Given the description of an element on the screen output the (x, y) to click on. 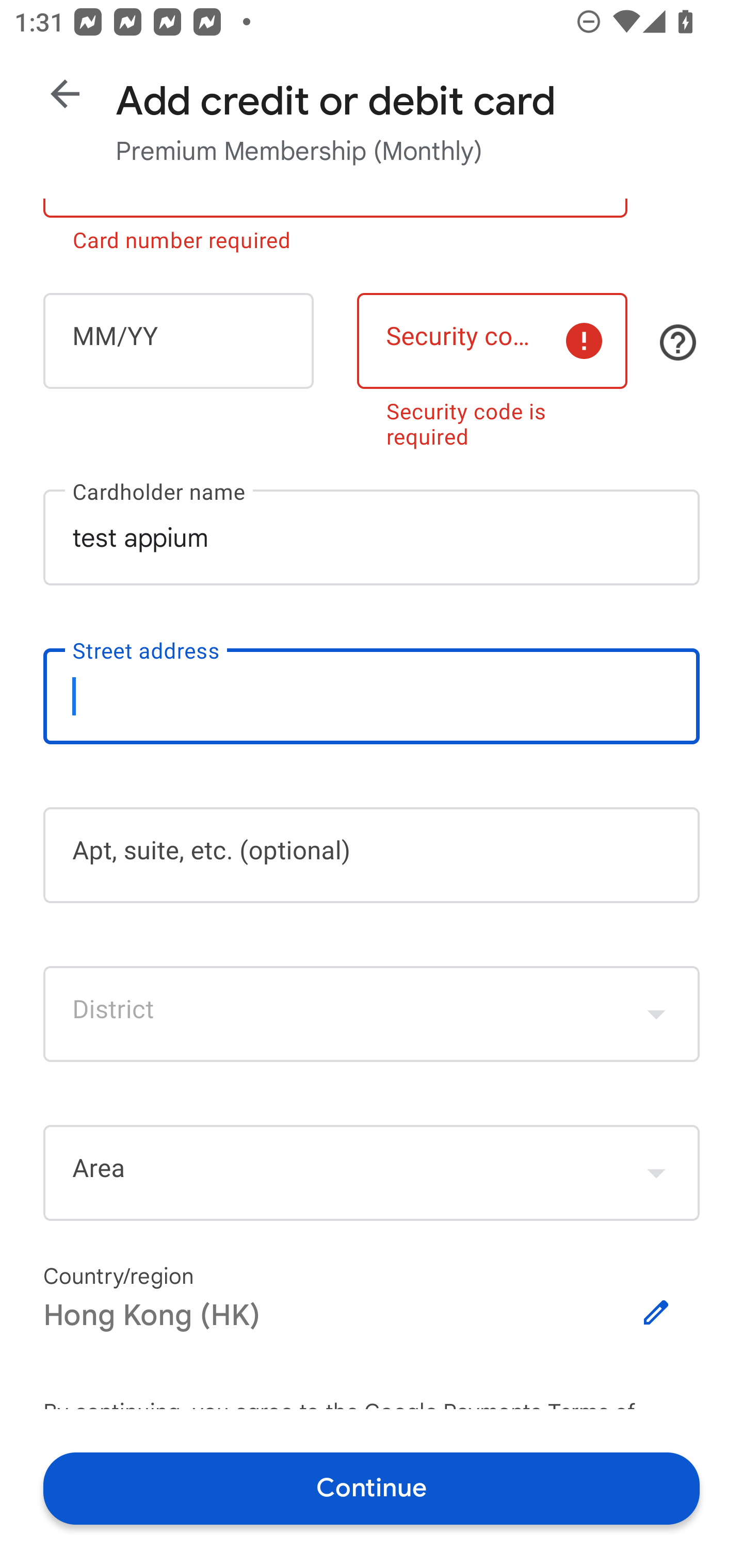
Back (64, 93)
Security code Error Security code is required (492, 367)
Expiration date, 2 digit month, 2 digit year (178, 340)
Security code (492, 340)
Security code help (677, 342)
test appium (371, 536)
Street address (371, 695)
Apt, suite, etc. (optional) (371, 855)
District (371, 1013)
Show dropdown menu (655, 1013)
Area (371, 1172)
Show dropdown menu (655, 1172)
country edit button (655, 1313)
Continue (371, 1487)
